Given the description of an element on the screen output the (x, y) to click on. 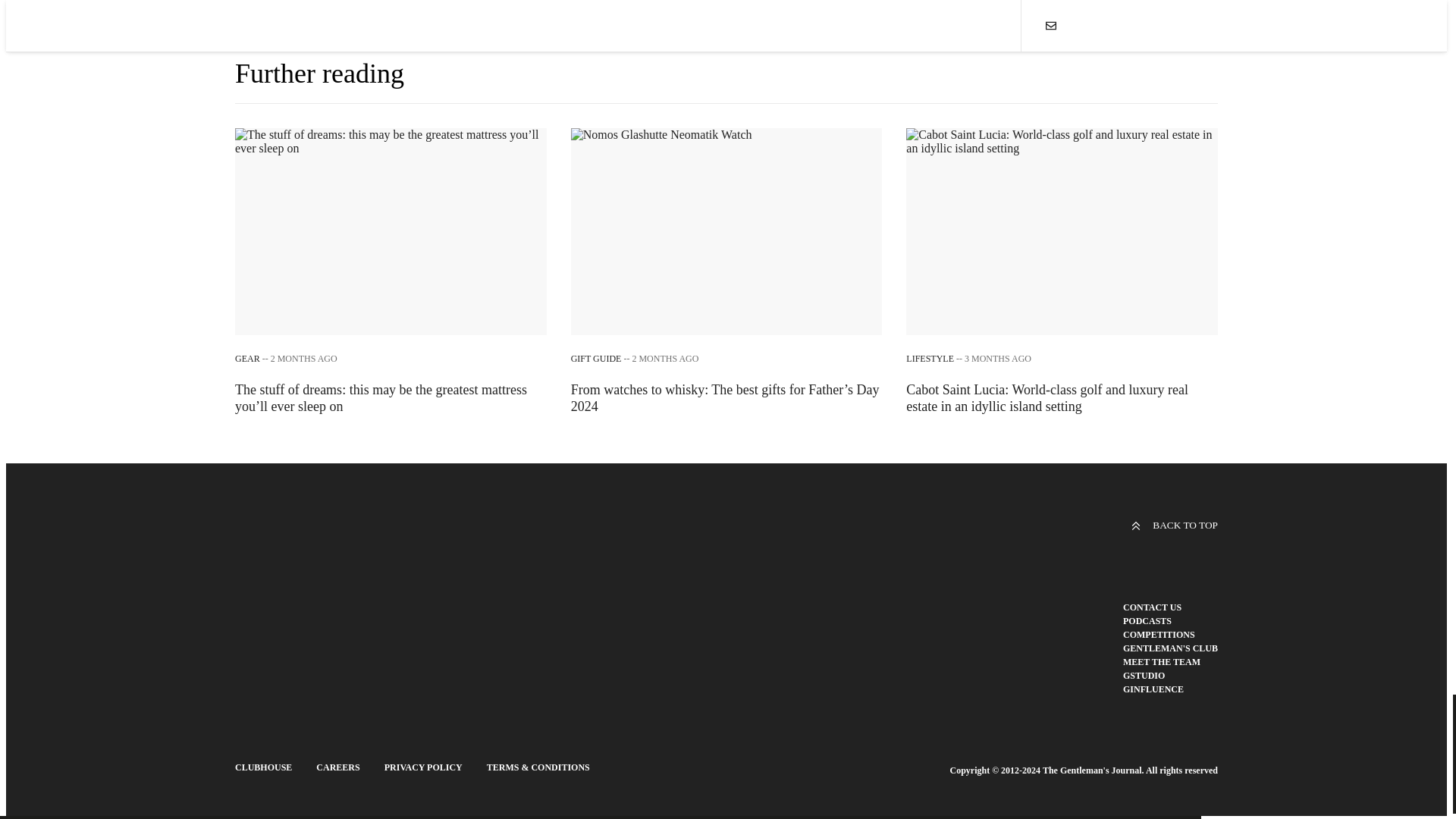
COMPETITIONS (1158, 634)
CONTACT US (1151, 606)
CLUBHOUSE (263, 767)
PODCASTS (1147, 620)
BACK TO TOP (1174, 525)
GINFLUENCE (1152, 688)
PRIVACY POLICY (423, 767)
GSTUDIO (1143, 675)
GENTLEMAN'S CLUB (1169, 647)
CAREERS (337, 767)
MEET THE TEAM (1160, 661)
